Given the description of an element on the screen output the (x, y) to click on. 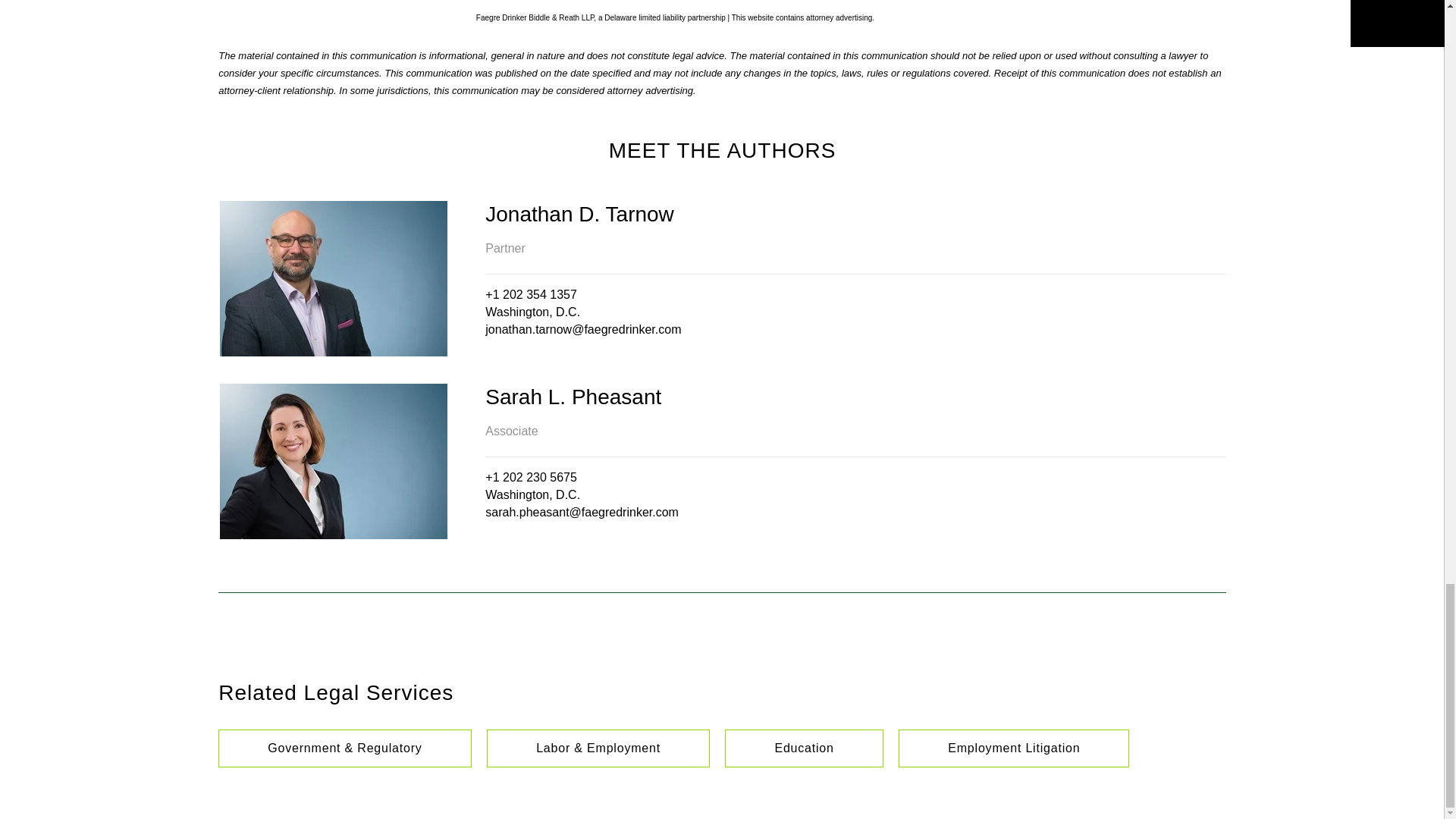
Jonathan D. Tarnow (854, 214)
